Given the description of an element on the screen output the (x, y) to click on. 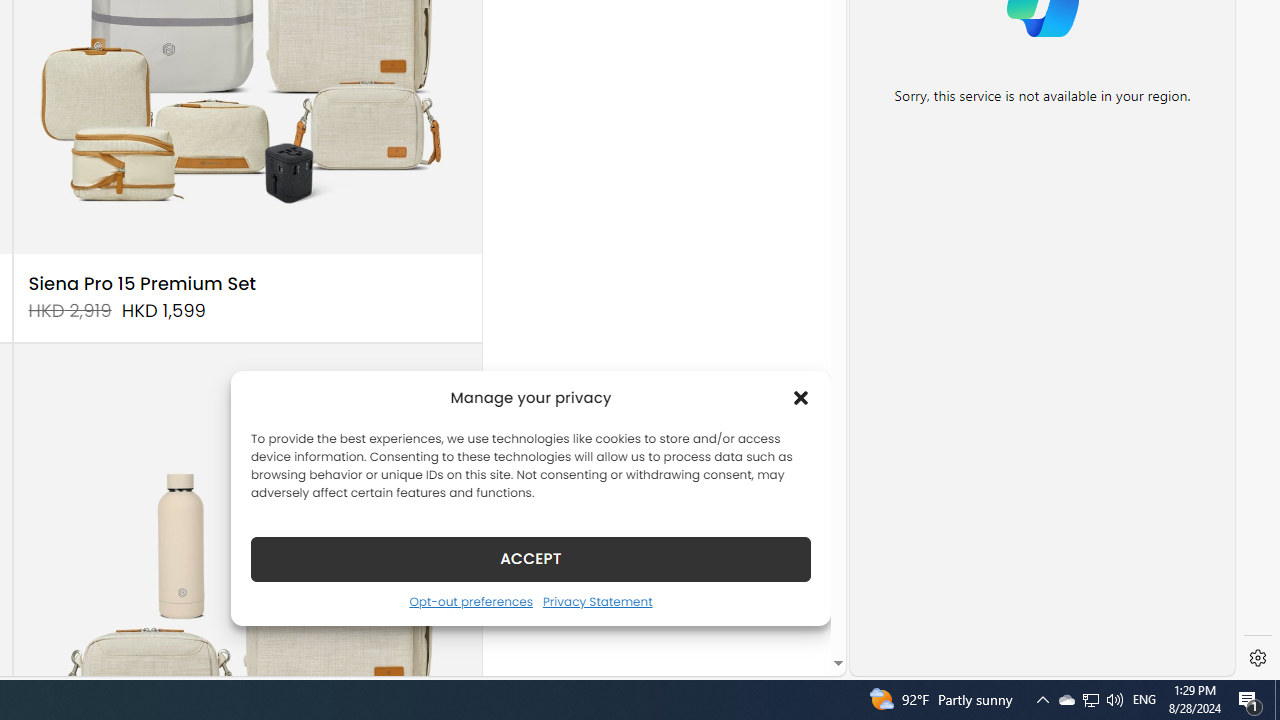
Siena Pro 15 Premium Set (142, 283)
Class: cmplz-close (801, 397)
Privacy Statement (596, 601)
ACCEPT (530, 558)
Opt-out preferences (470, 601)
